Given the description of an element on the screen output the (x, y) to click on. 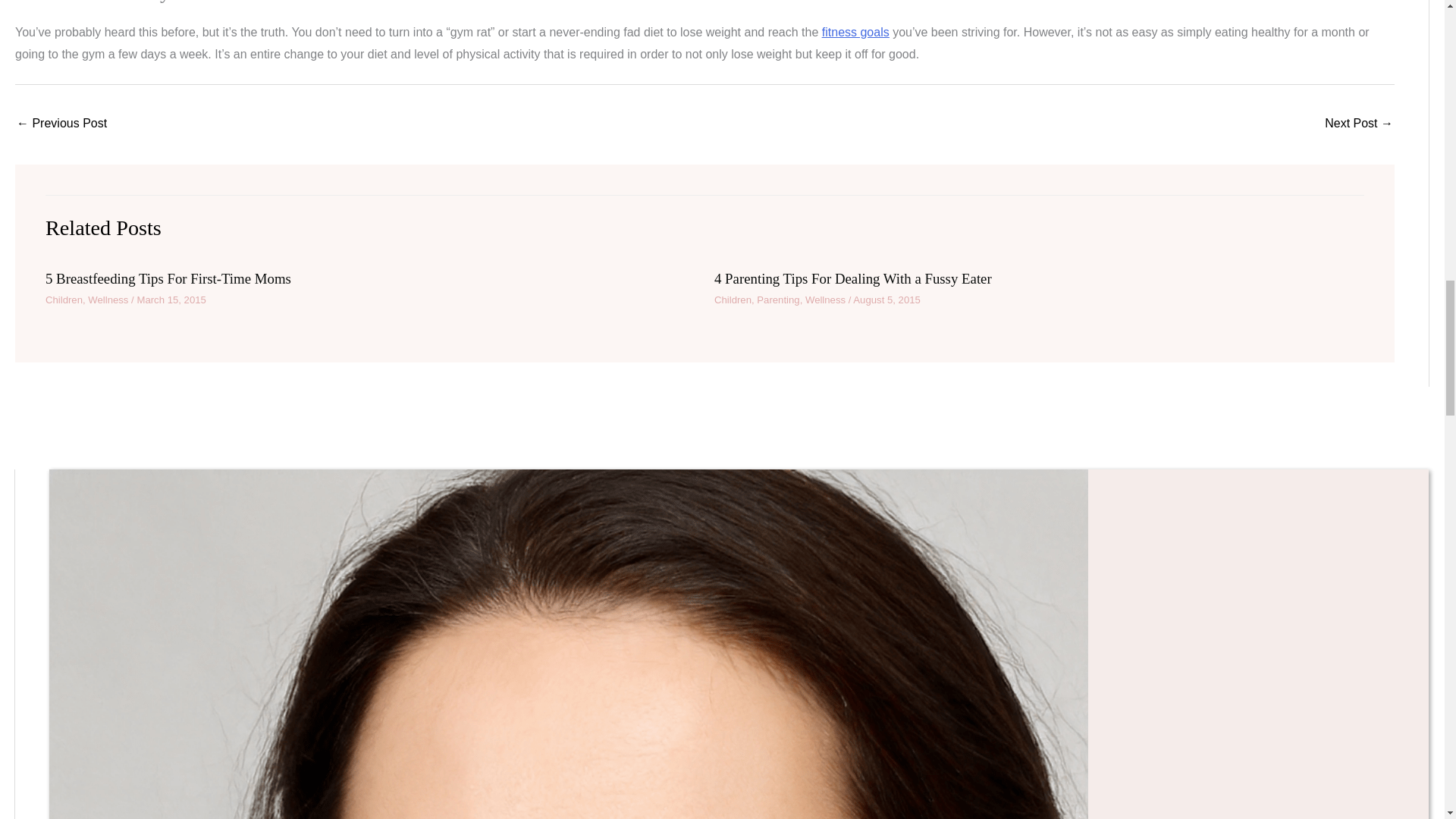
4 Parenting Tips For Dealing With a Fussy Eater (852, 278)
5 Breastfeeding Tips For First-Time Moms (168, 278)
Wellness (107, 299)
How To Take Care Of Your Skin During Pregnancy (1358, 124)
Children (63, 299)
fitness goals (855, 31)
Parenting (778, 299)
Wellness (825, 299)
Children (732, 299)
